Given the description of an element on the screen output the (x, y) to click on. 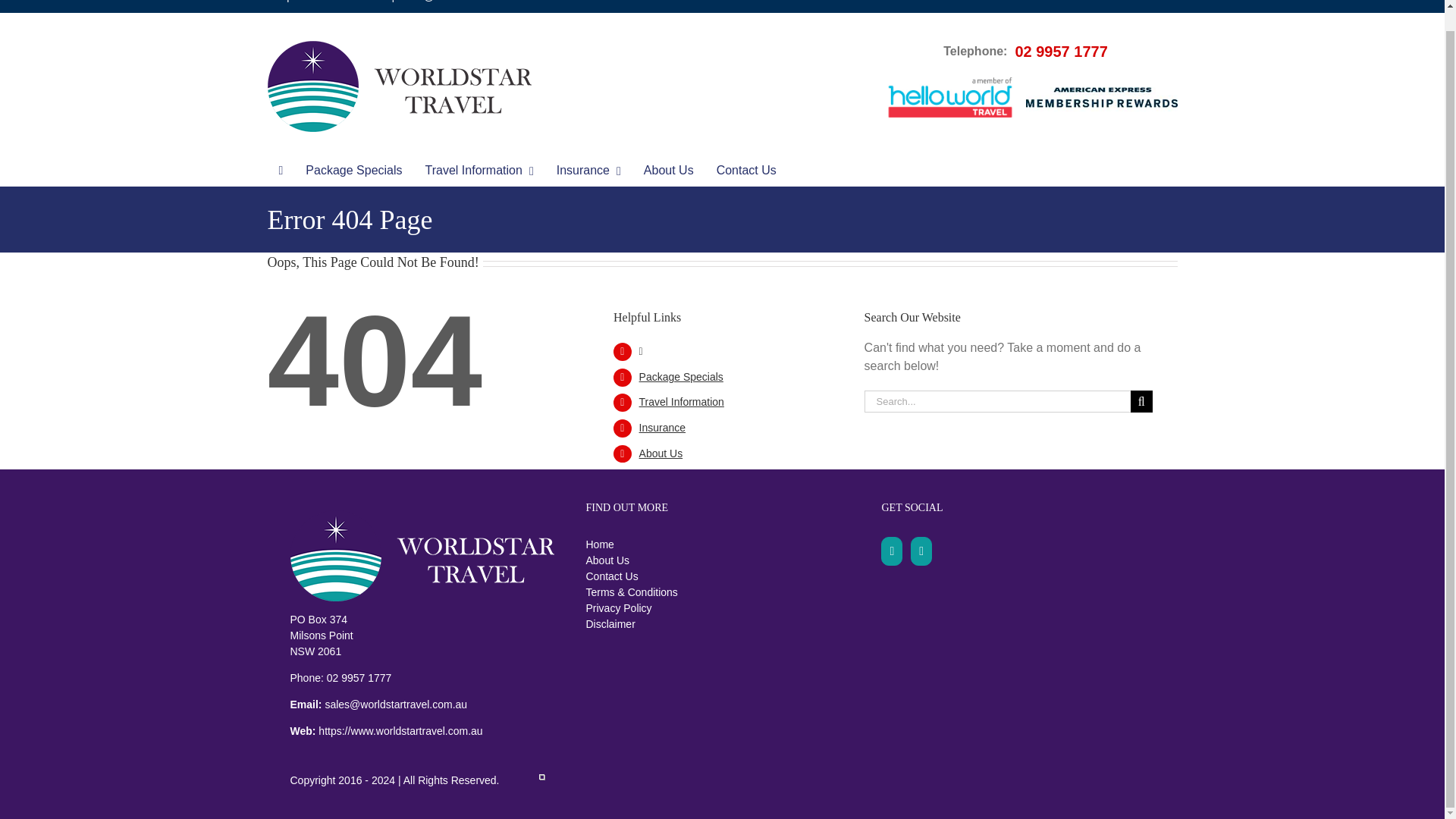
02 9957 1777 (354, 1)
Insurance (587, 170)
Travel Information (478, 170)
Facebook (891, 551)
Package Specials (353, 170)
02 9957 1777 (1060, 51)
Contact Us (745, 170)
Mail (921, 551)
About Us (667, 170)
